Given the description of an element on the screen output the (x, y) to click on. 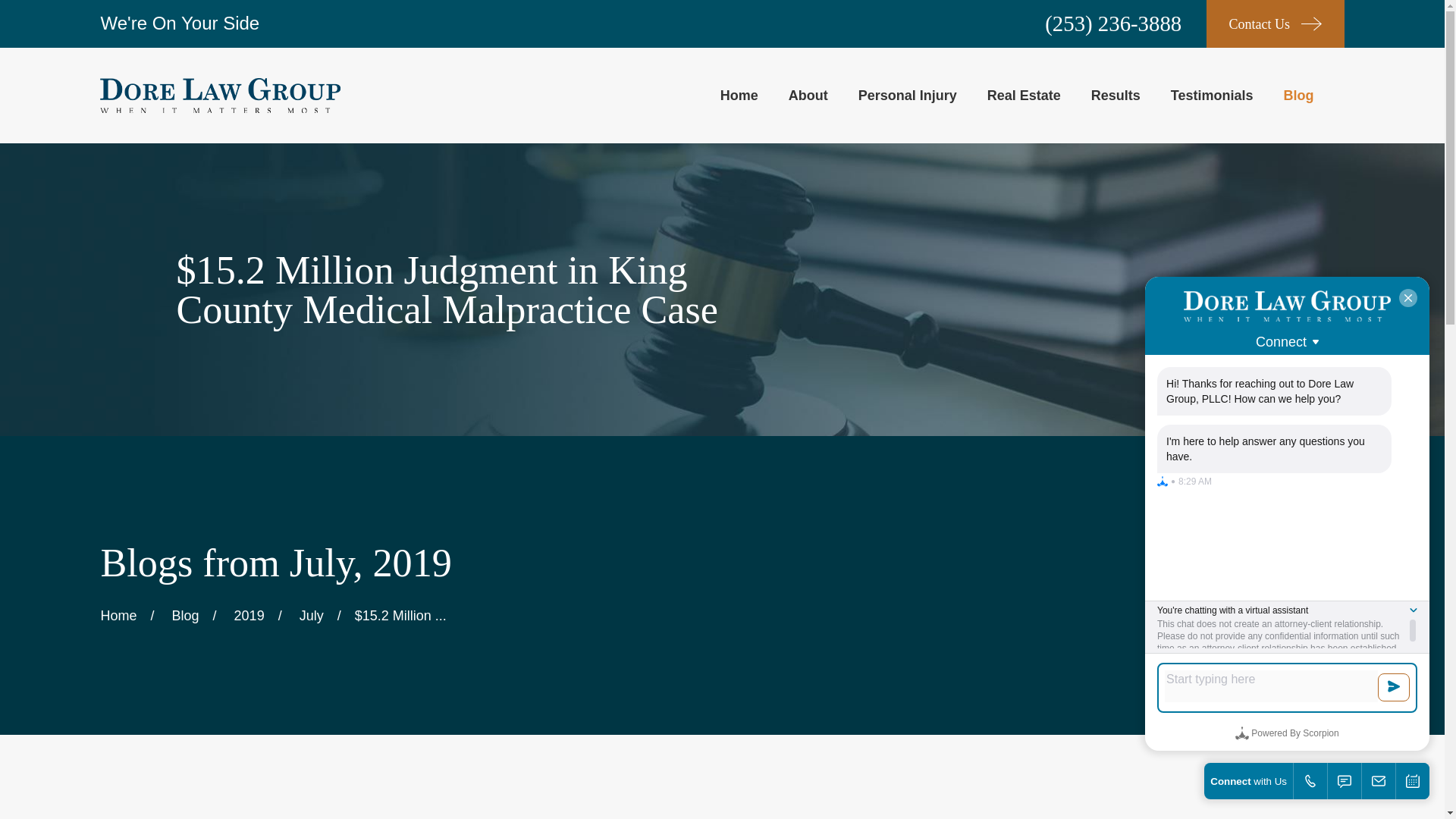
Home (220, 95)
Real Estate (1024, 95)
Testimonials (1211, 95)
Contact Us (1275, 23)
Go Home (118, 615)
Results (1115, 95)
Personal Injury (907, 95)
